Given the description of an element on the screen output the (x, y) to click on. 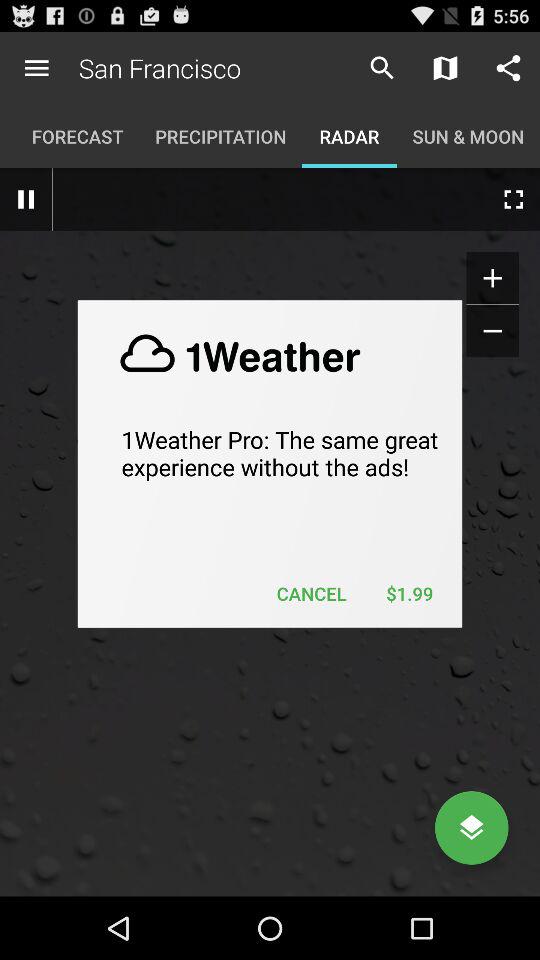
select the app next to $1.99 icon (311, 593)
